Given the description of an element on the screen output the (x, y) to click on. 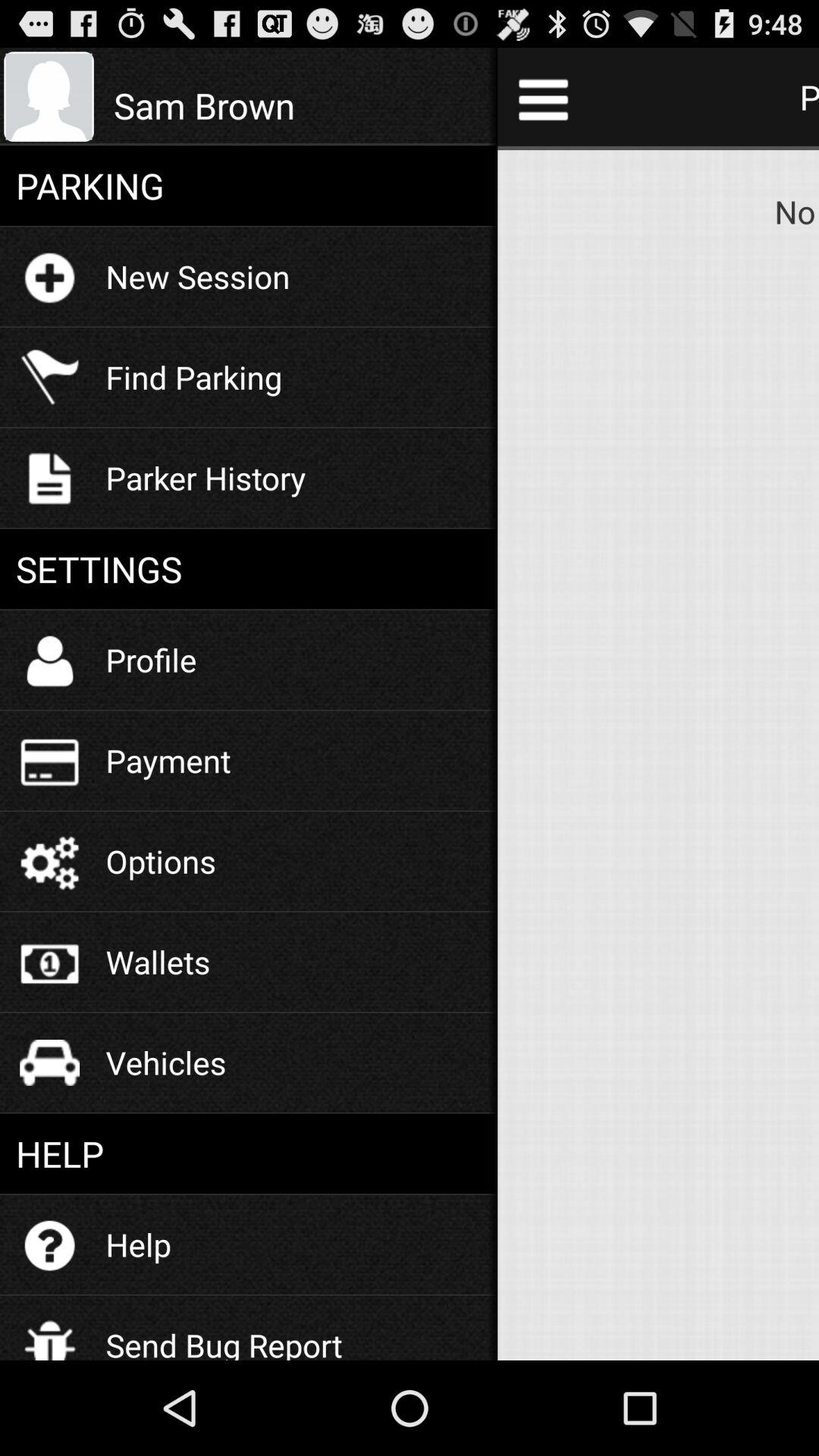
tap the wallets (157, 961)
